Given the description of an element on the screen output the (x, y) to click on. 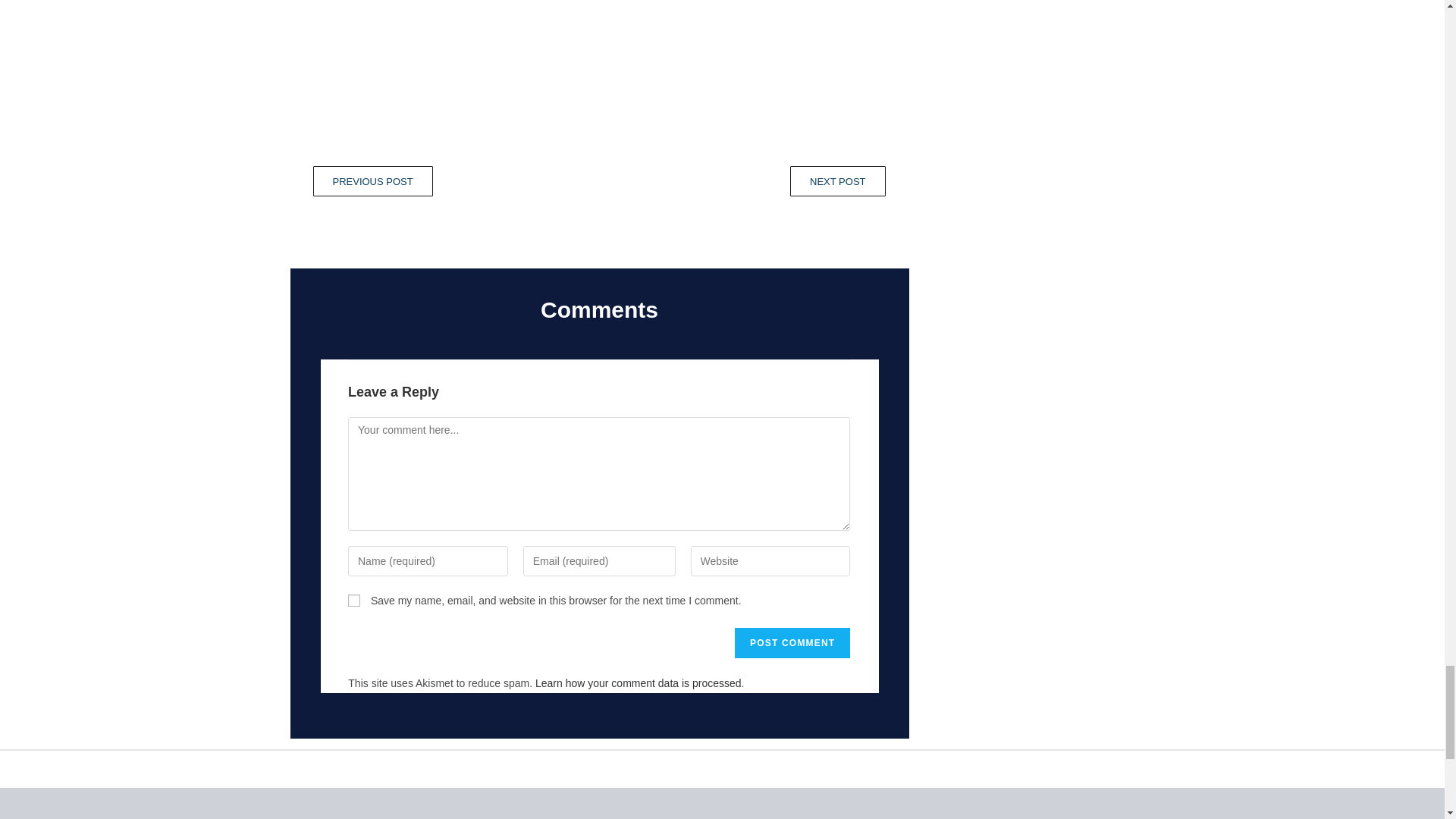
NEXT POST (741, 181)
PREVIOUS POST (455, 181)
Post Comment (792, 643)
yes (353, 600)
